Given the description of an element on the screen output the (x, y) to click on. 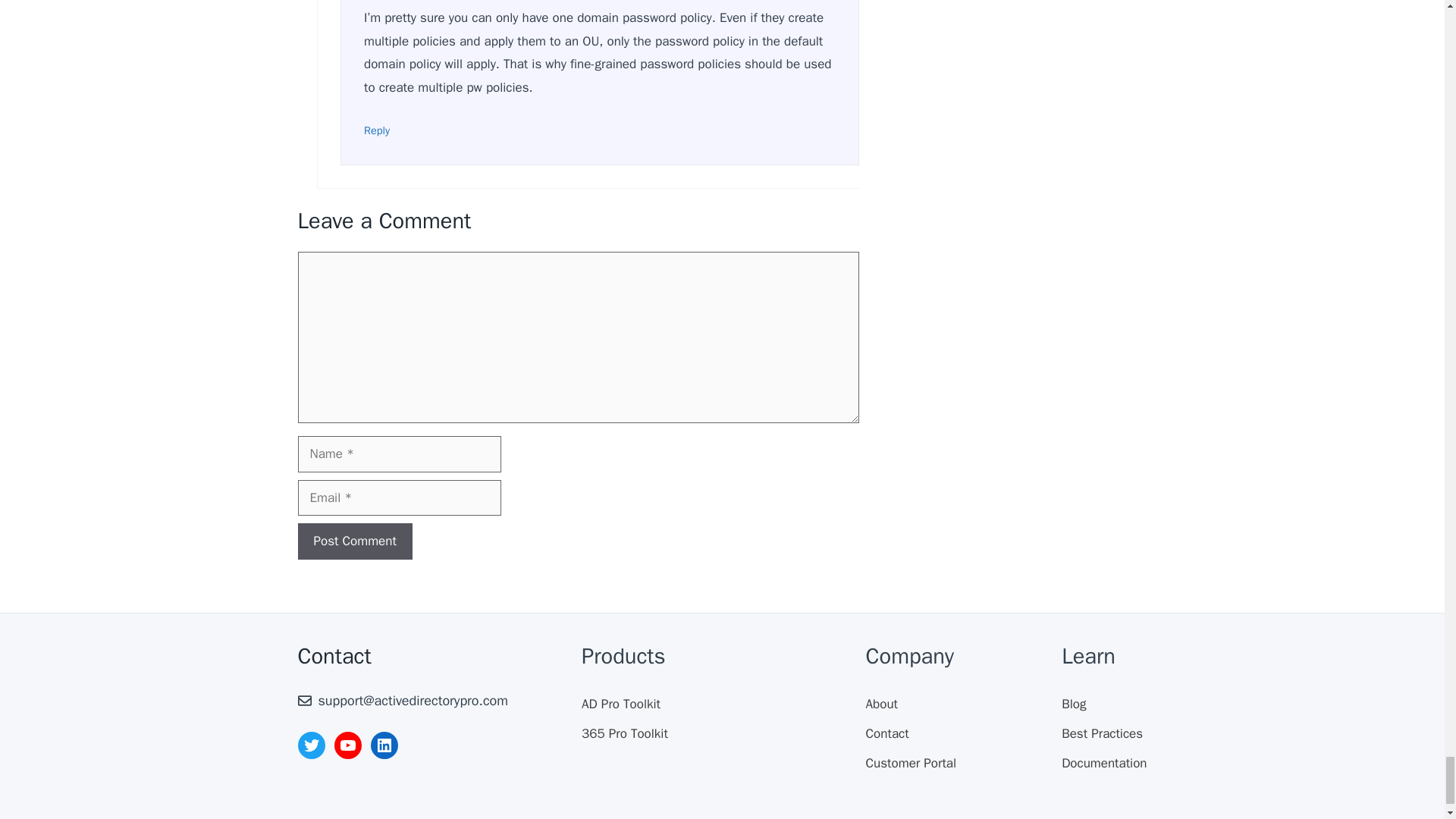
Post Comment (354, 541)
